Given the description of an element on the screen output the (x, y) to click on. 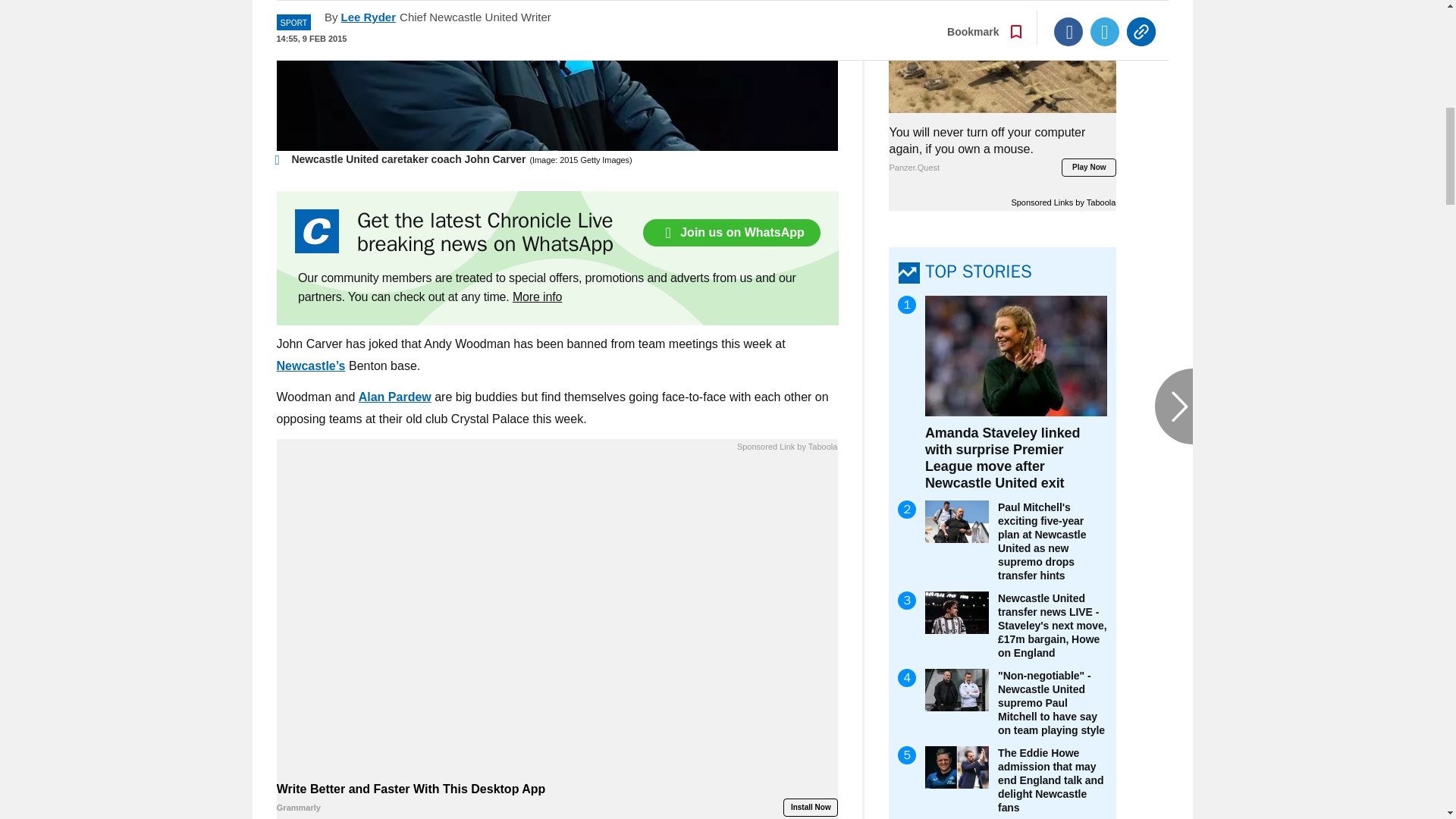
Write Better and Faster With This Desktop App (557, 798)
